Given the description of an element on the screen output the (x, y) to click on. 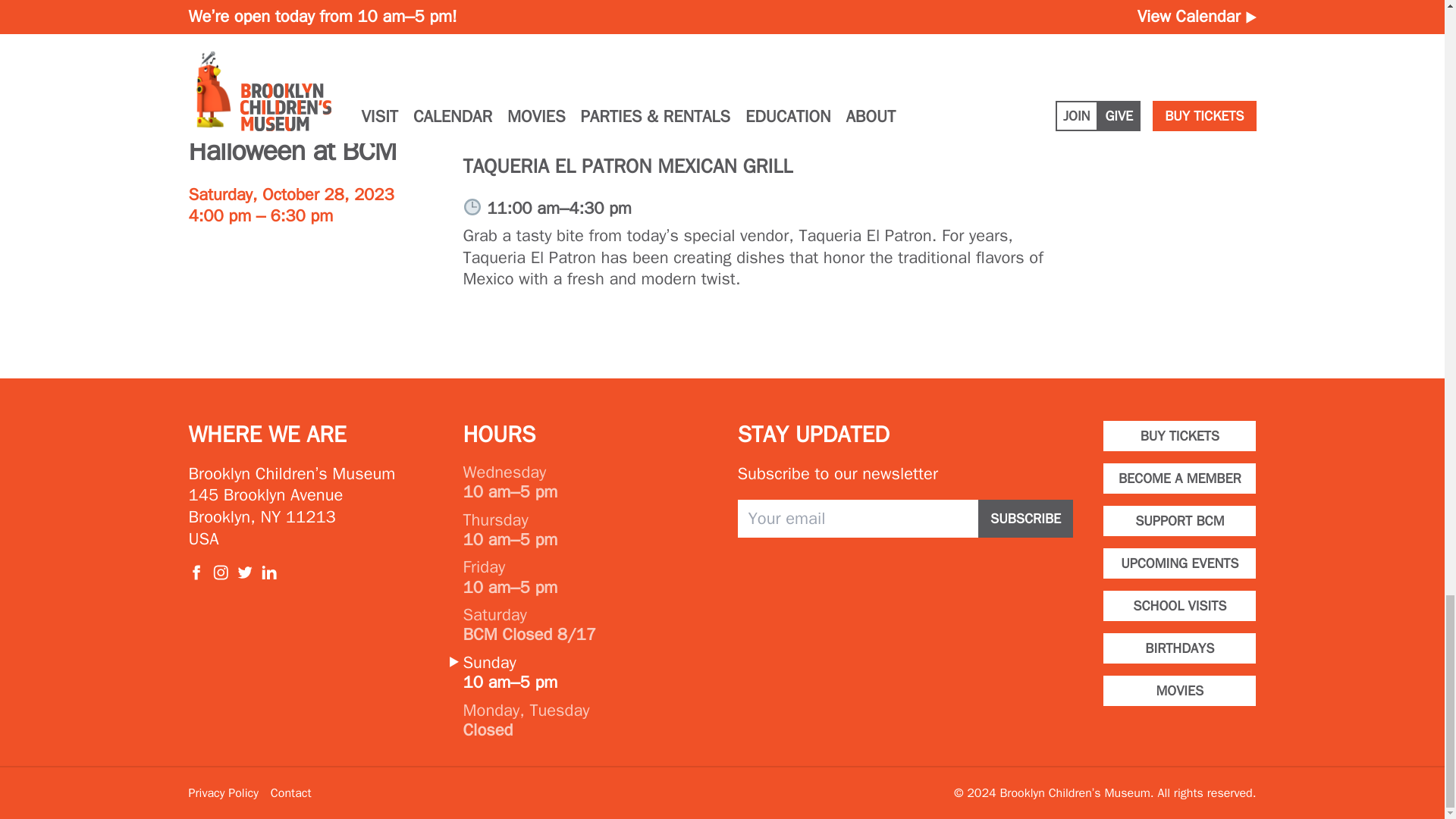
twitter (243, 572)
facebook (195, 572)
linkedin (268, 572)
instagram (219, 572)
